Given the description of an element on the screen output the (x, y) to click on. 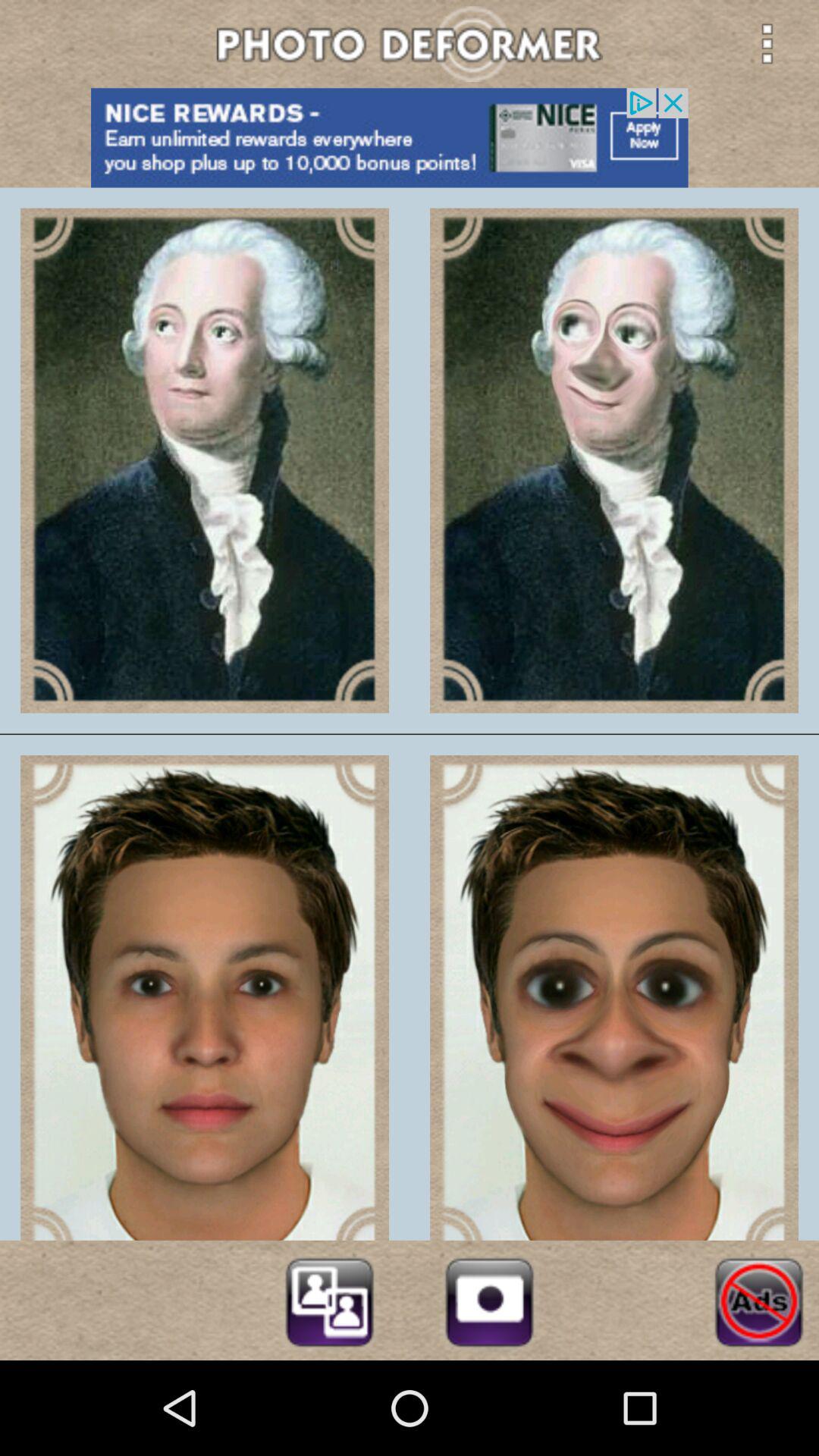
block advertisements (758, 1300)
